Given the description of an element on the screen output the (x, y) to click on. 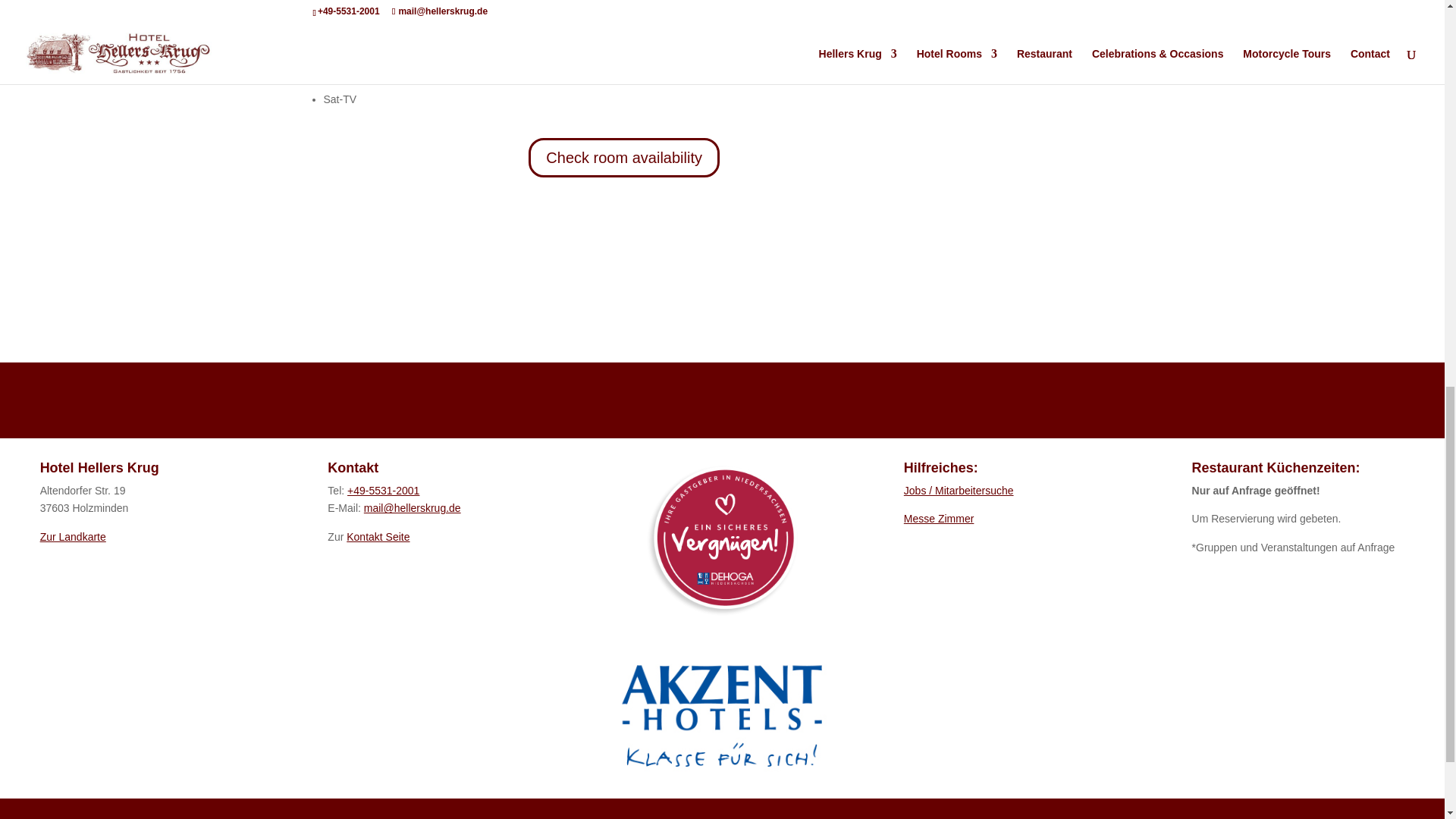
Check room availability (623, 157)
